Given the description of an element on the screen output the (x, y) to click on. 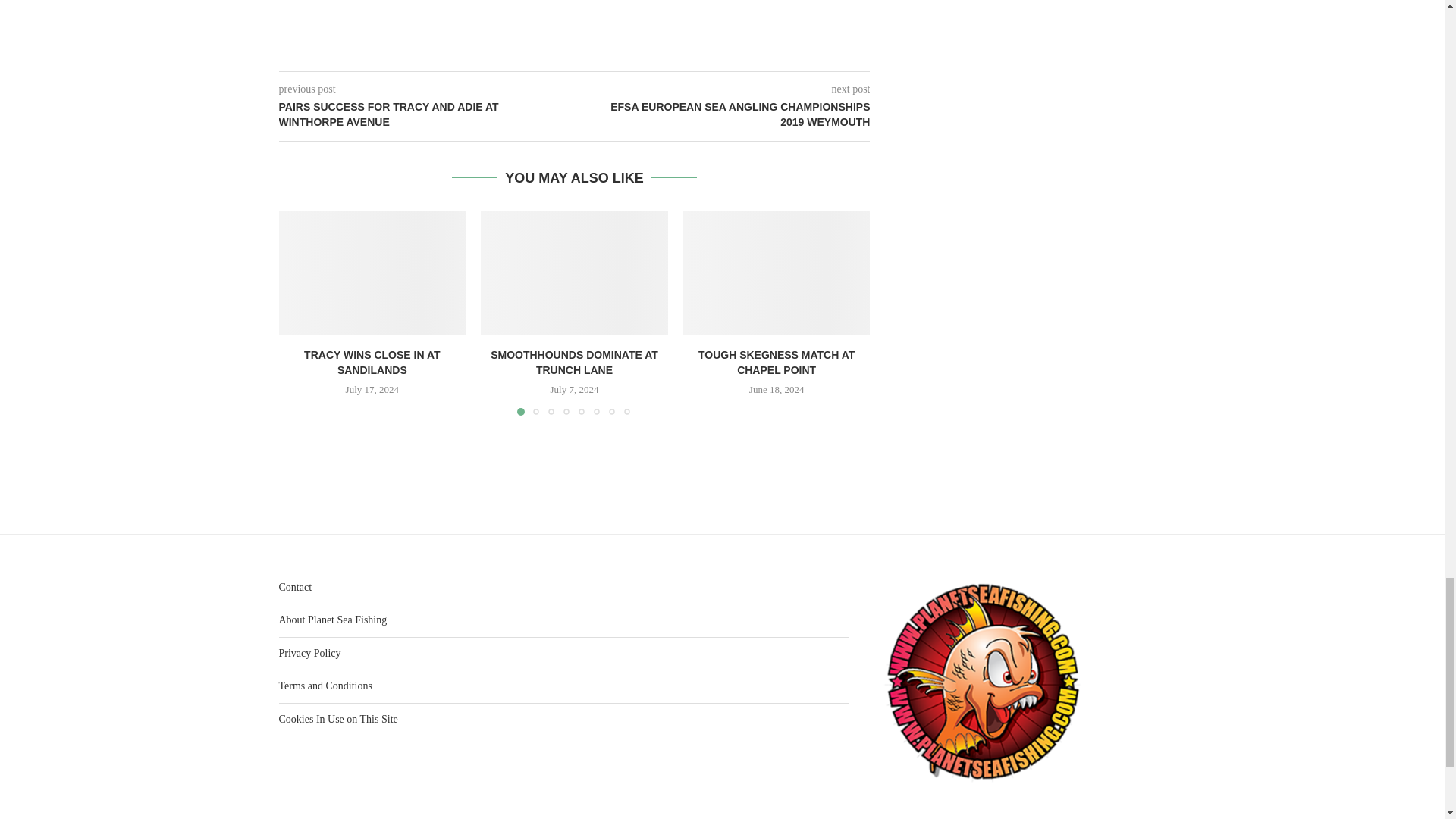
Tough Skegness Match At Chapel Point (776, 272)
Smoothhounds Dominate At Trunch Lane (574, 272)
Tracy Wins Close In At Sandilands (372, 272)
